Given the description of an element on the screen output the (x, y) to click on. 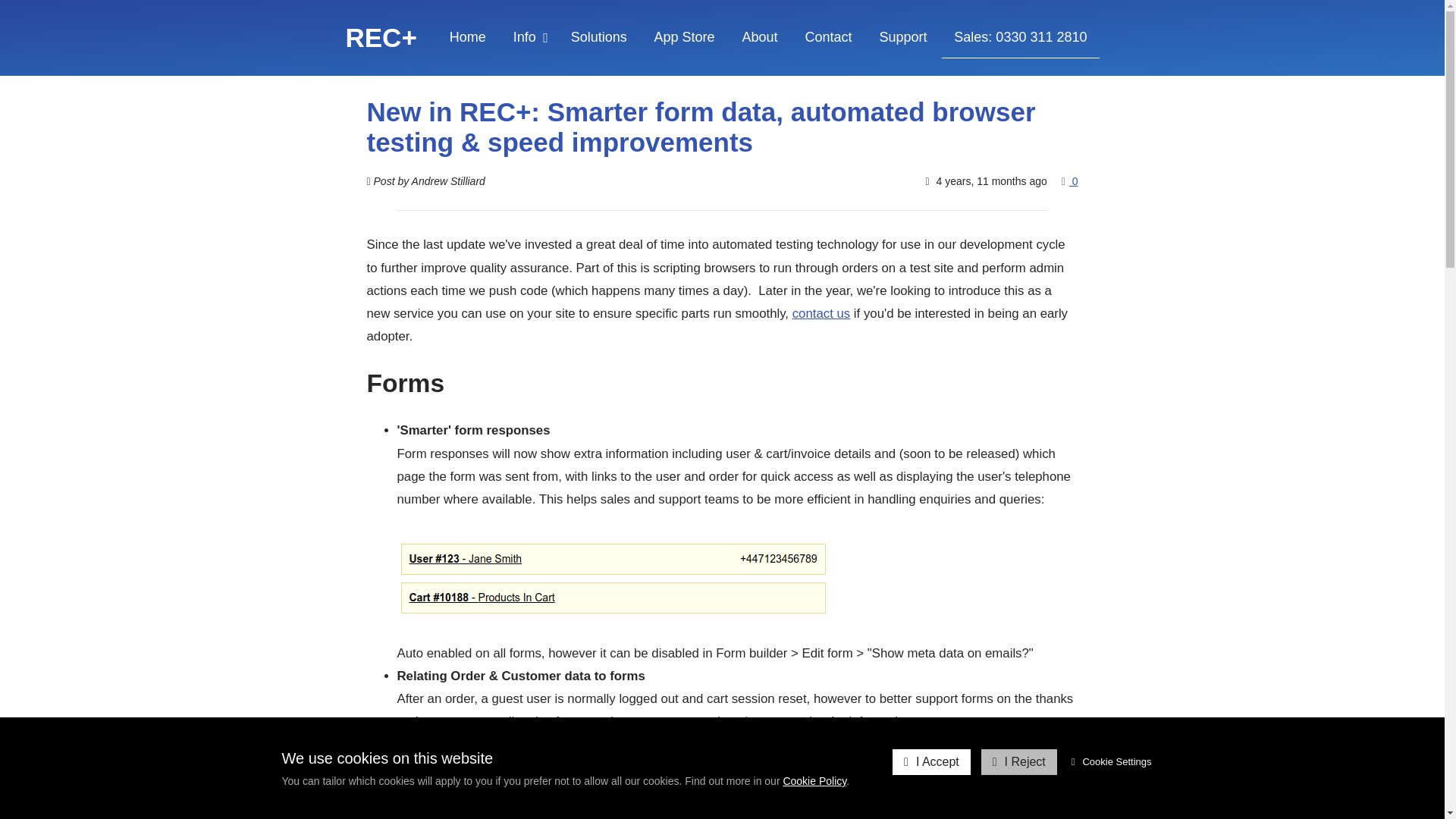
App Store (684, 37)
Cookie Settings (1111, 761)
I Reject (1019, 761)
Info (528, 37)
Solutions (599, 37)
Info (528, 37)
Home (467, 37)
Sales: 0330 311 2810 (1020, 37)
Solutions (599, 37)
Cookie Policy (814, 780)
